Given the description of an element on the screen output the (x, y) to click on. 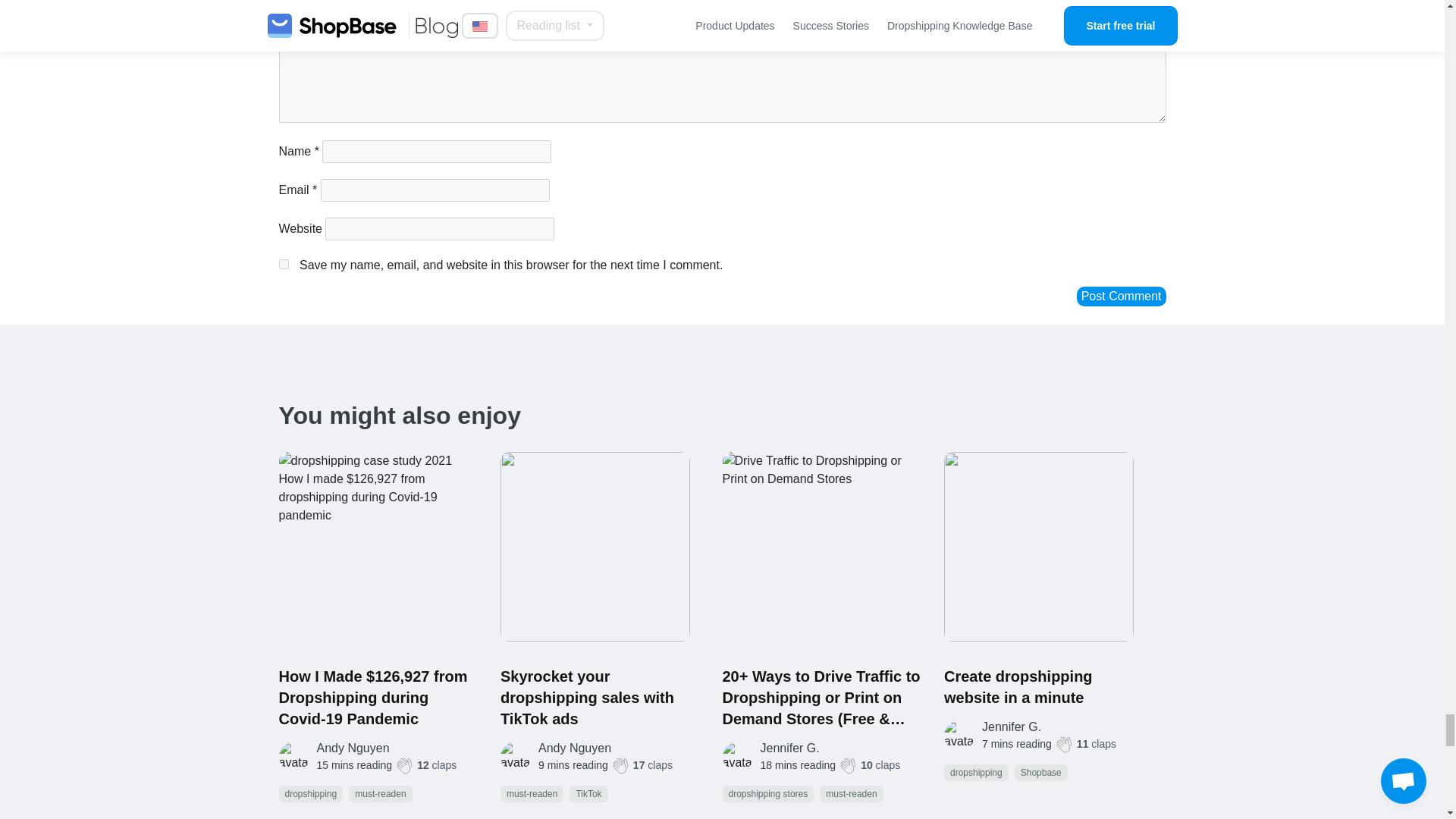
Post Comment (1121, 296)
yes (283, 264)
